Given the description of an element on the screen output the (x, y) to click on. 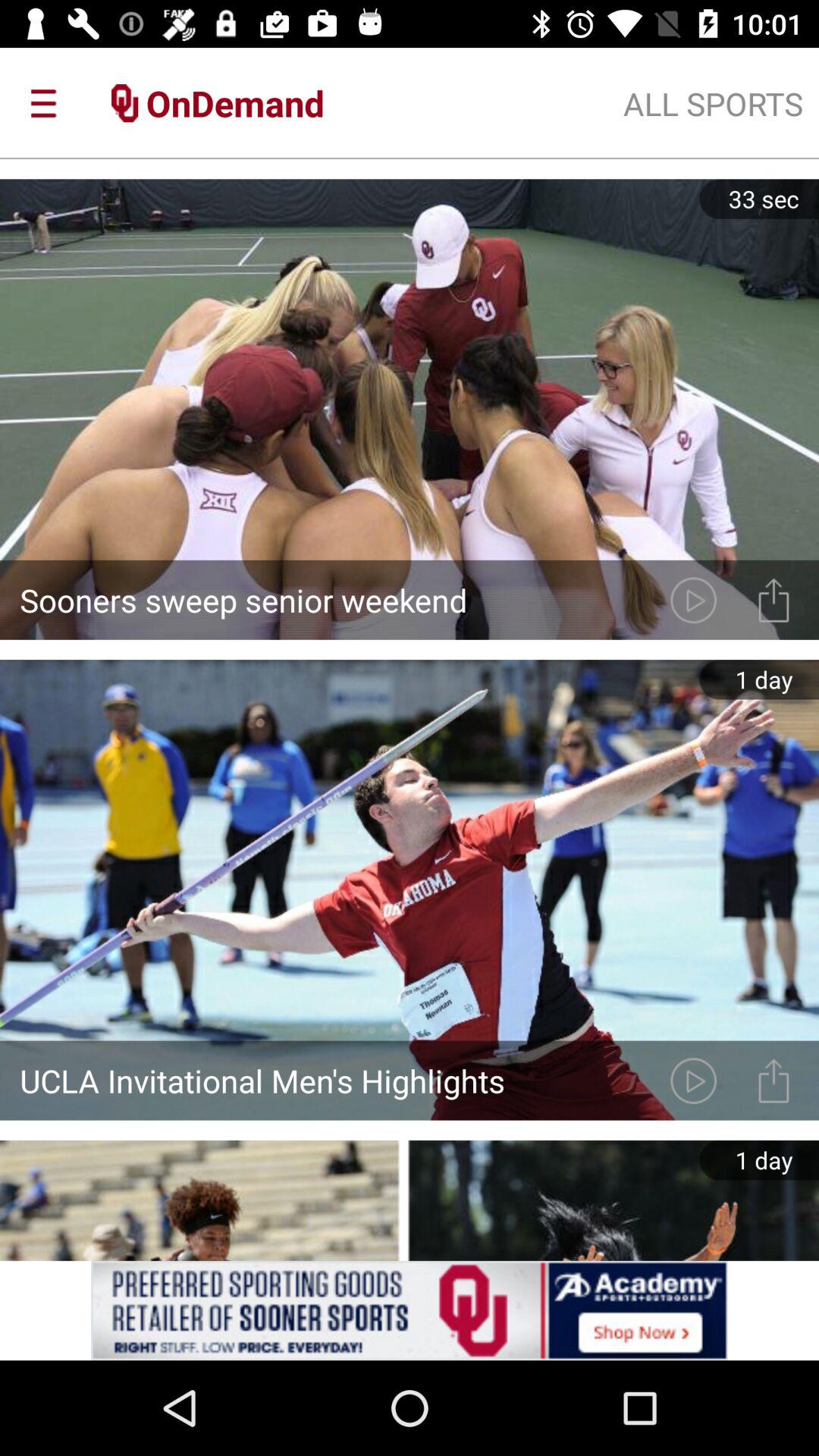
play video (693, 599)
